Given the description of an element on the screen output the (x, y) to click on. 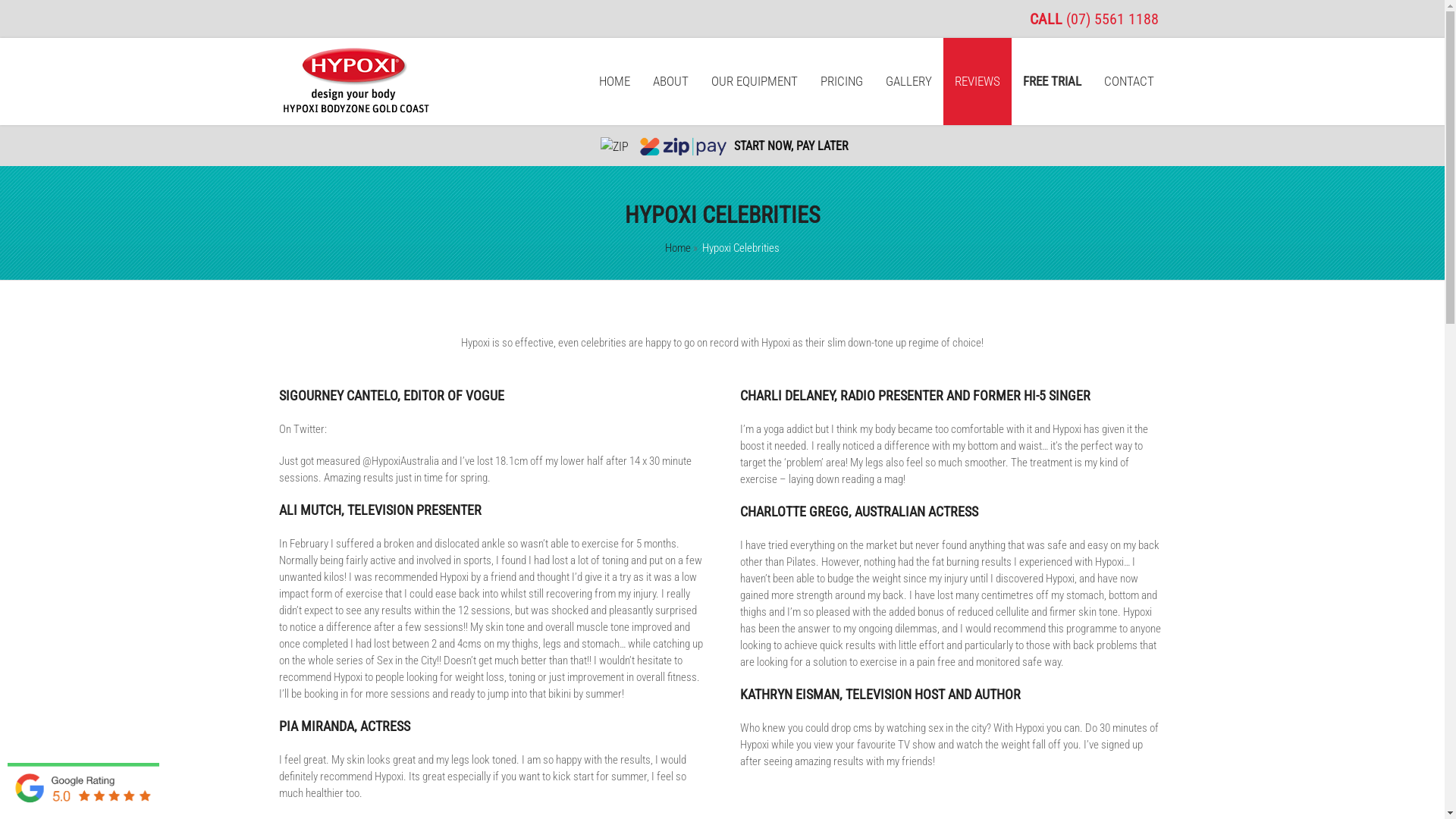
Hypoxi Bodyzone Gold Coast Element type: hover (354, 109)
OUR EQUIPMENT Element type: text (754, 81)
GALLERY Element type: text (908, 81)
(07) 5561 1188 Element type: text (1112, 18)
PRICING Element type: text (841, 81)
Home Element type: text (677, 247)
REVIEWS Element type: text (977, 81)
FREE TRIAL Element type: text (1051, 81)
CONTACT Element type: text (1128, 81)
HOME Element type: text (614, 81)
ABOUT Element type: text (670, 81)
